Given the description of an element on the screen output the (x, y) to click on. 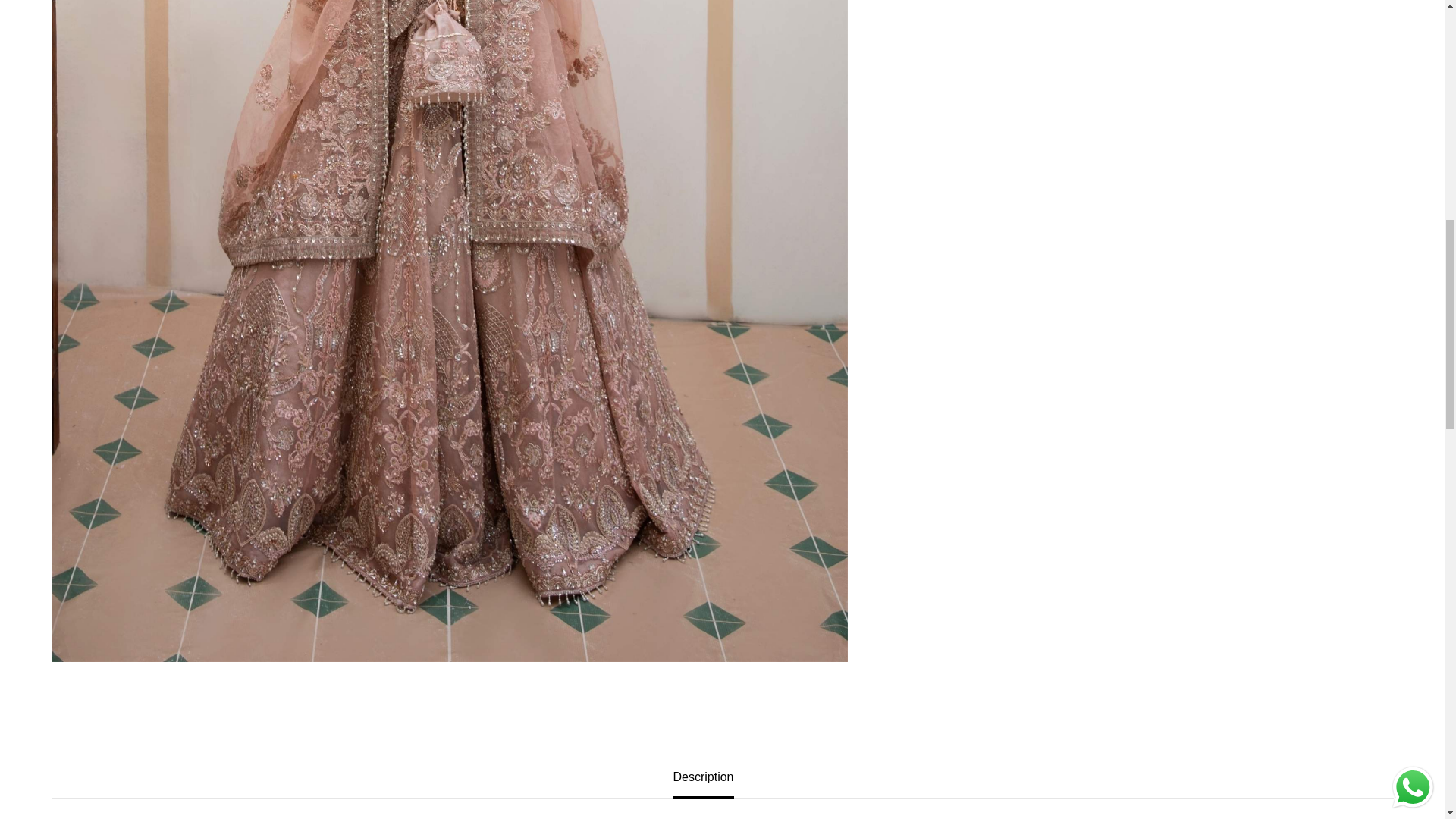
Description (702, 776)
